Given the description of an element on the screen output the (x, y) to click on. 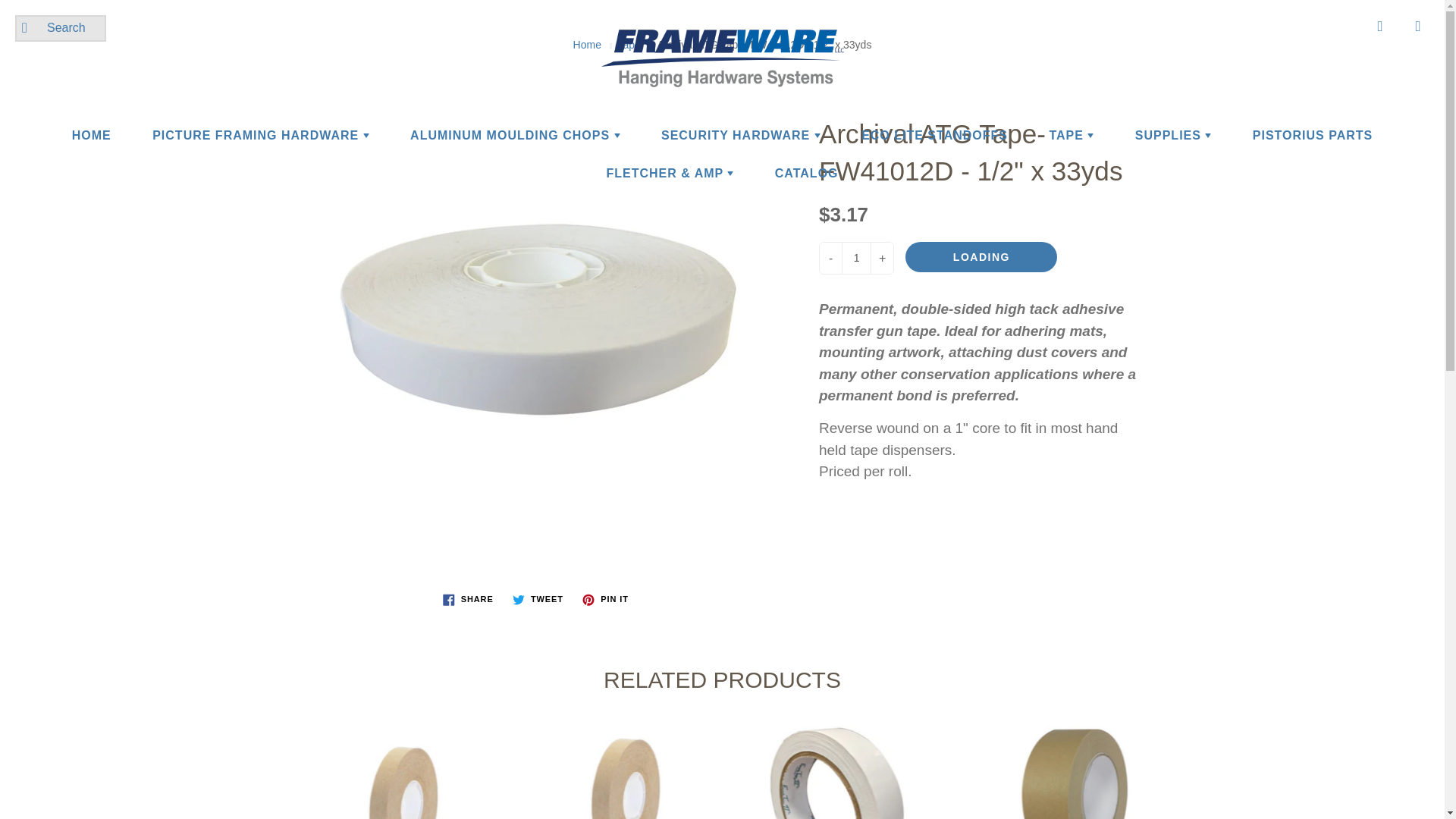
SECURITY HARDWARE (741, 135)
HOME (91, 135)
PICTURE FRAMING HARDWARE (260, 135)
ECO LITE STANDOFFS (934, 135)
Share on Facebook (467, 599)
My account (1379, 26)
TAPE (1070, 135)
ALUMINUM MOULDING CHOPS (515, 135)
Search (29, 27)
Home (587, 44)
You have 0 items in your cart (1417, 26)
Pin on Pinterest (604, 599)
Tweet on Twitter (537, 599)
1 (855, 257)
